Given the description of an element on the screen output the (x, y) to click on. 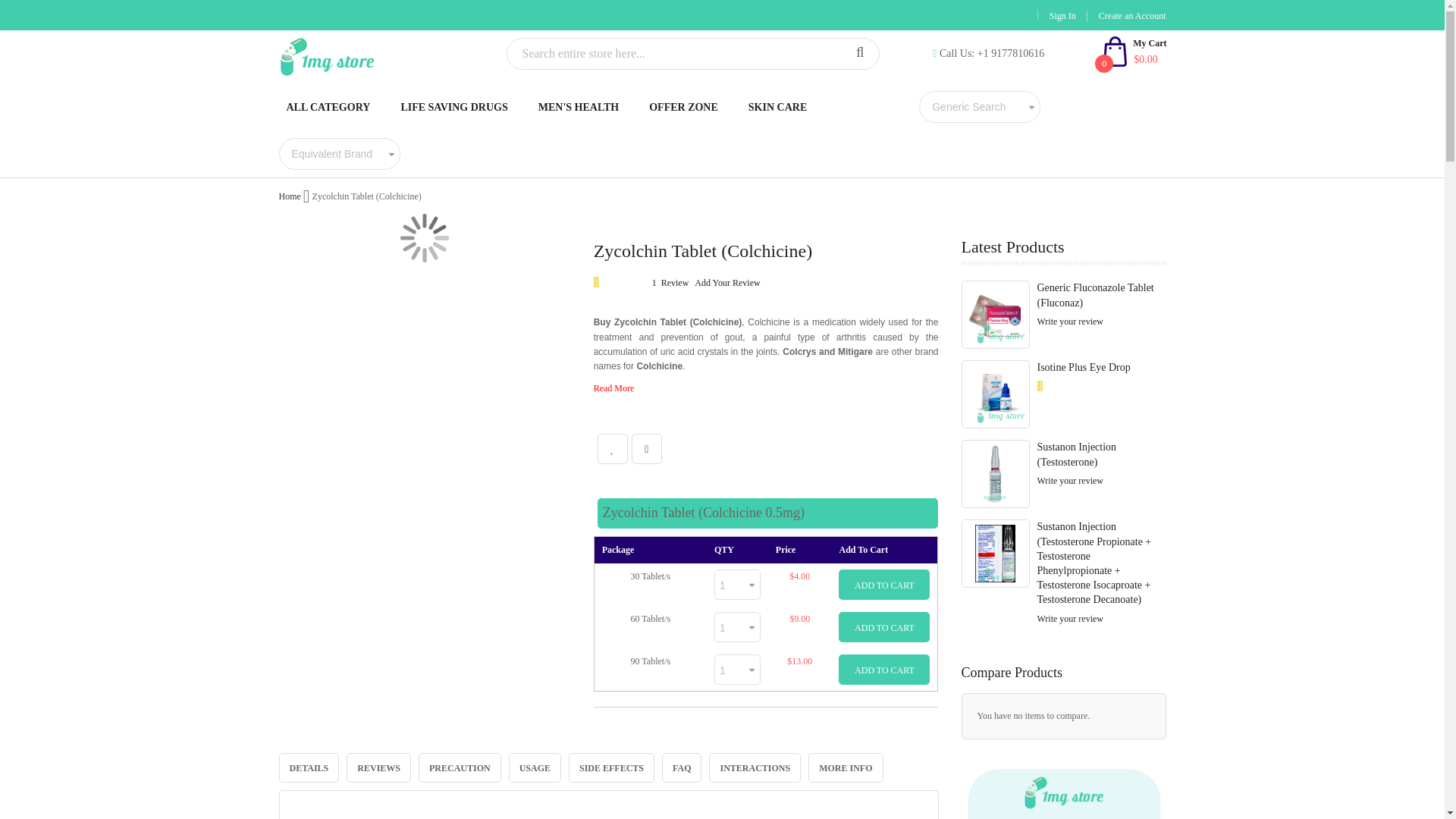
Create an Account (1132, 15)
ALL CATEGORY (328, 106)
1mgstore (381, 56)
Sign In (1062, 15)
Go to Home Page (290, 195)
Search (859, 53)
